Given the description of an element on the screen output the (x, y) to click on. 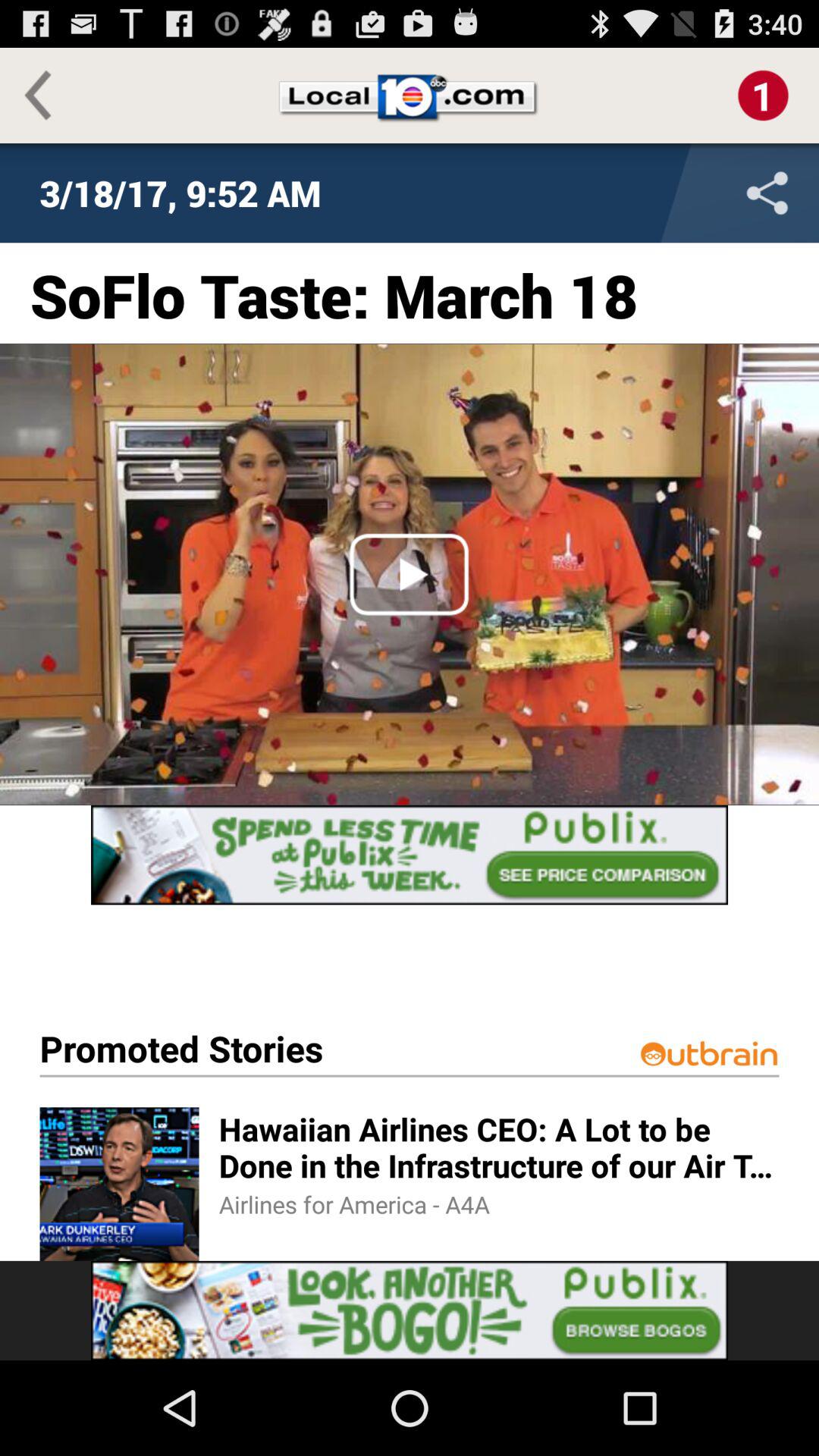
watch he video (409, 574)
